Given the description of an element on the screen output the (x, y) to click on. 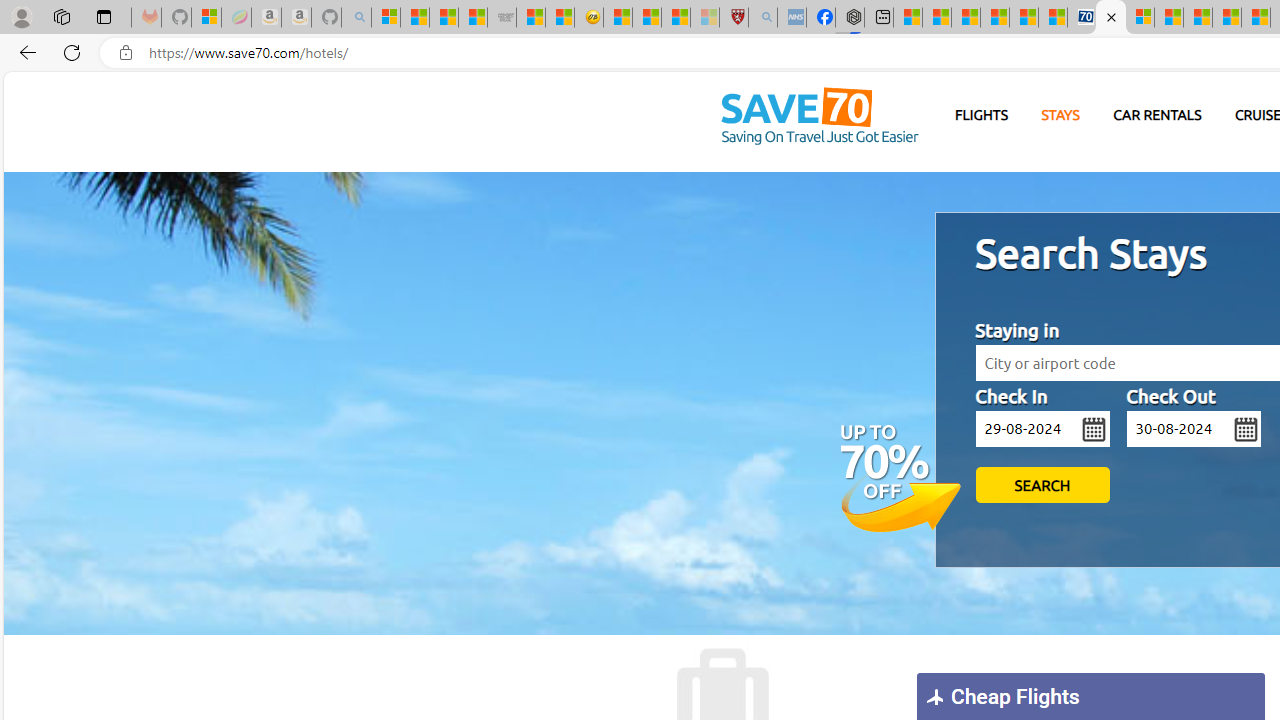
Cheap Hotels - Save70.com (1111, 17)
STAYS (1060, 115)
